Given the description of an element on the screen output the (x, y) to click on. 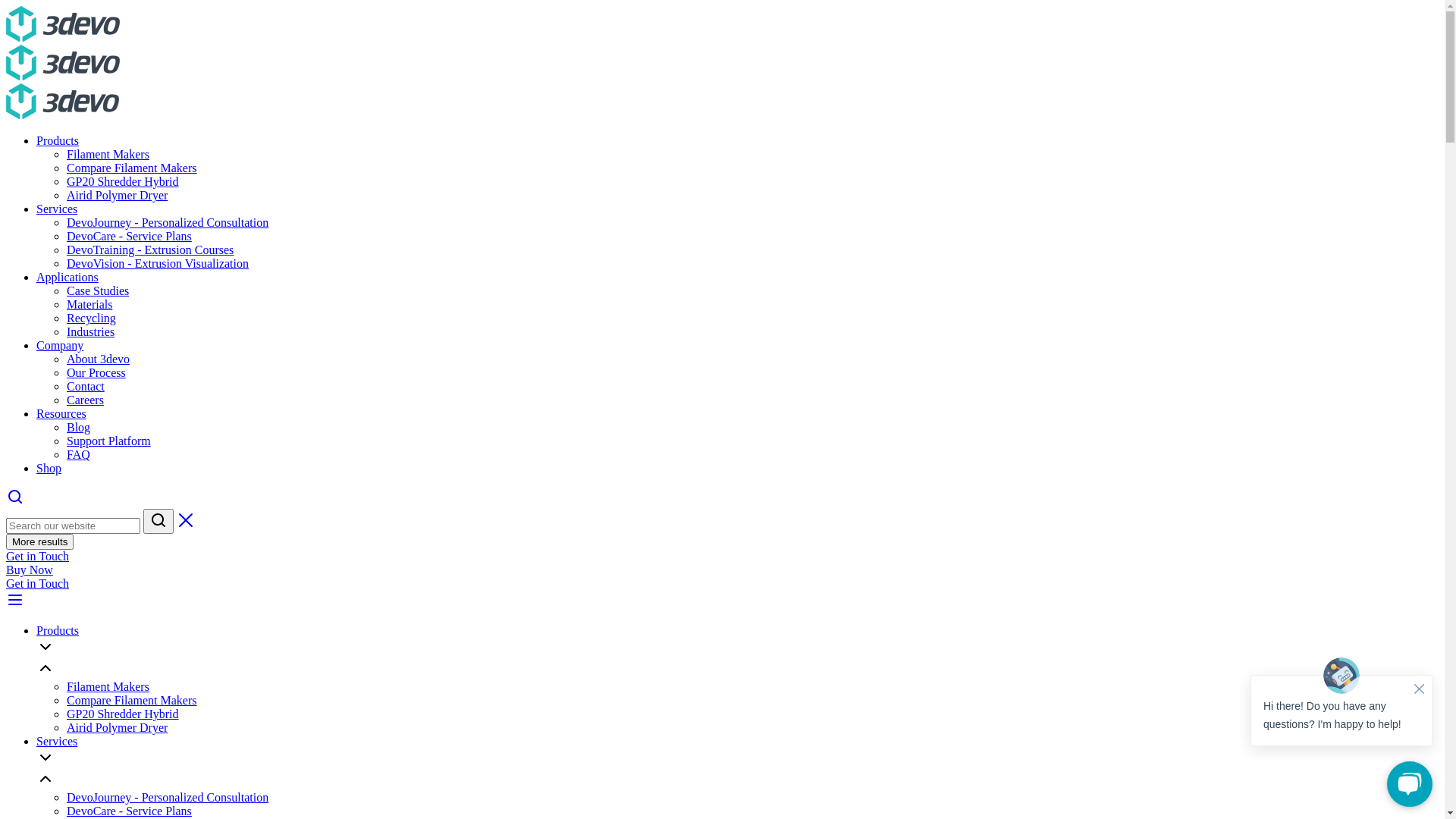
Materials Element type: text (89, 304)
Careers Element type: text (84, 399)
Contact Element type: text (85, 385)
3devo Logo Element type: hover (62, 23)
FAQ Element type: text (78, 454)
Our Process Element type: text (95, 372)
Airid Polymer Dryer Element type: text (116, 727)
GP20 Shredder Hybrid Element type: text (122, 713)
Recycling Element type: text (91, 317)
More results Element type: text (39, 541)
Buy Now Element type: text (29, 569)
Compare Filament Makers Element type: text (131, 699)
Get in Touch Element type: text (37, 583)
Case Studies Element type: text (97, 290)
DevoTraining - Extrusion Courses Element type: text (149, 249)
Resources Element type: text (61, 413)
DevoJourney - Personalized Consultation Element type: text (167, 222)
Support Platform Element type: text (108, 440)
Products Element type: text (57, 140)
DevoCare - Service Plans Element type: text (128, 235)
About 3devo Element type: text (97, 358)
Compare Filament Makers Element type: text (131, 167)
Services Element type: text (56, 208)
Shop Element type: text (48, 467)
Applications Element type: text (67, 276)
Services Element type: text (56, 740)
Filament Makers Element type: text (107, 686)
DevoVision - Extrusion Visualization Element type: text (157, 263)
Industries Element type: text (90, 331)
Search our website Element type: hover (73, 525)
DevoCare - Service Plans Element type: text (128, 810)
Blog Element type: text (78, 426)
Airid Polymer Dryer Element type: text (116, 194)
Products Element type: text (57, 630)
Filament Makers Element type: text (107, 153)
3devo - Blue and Dark logo-CROPPED-1 Element type: hover (62, 62)
Company Element type: text (59, 344)
DevoJourney - Personalized Consultation Element type: text (167, 796)
3devo logo Element type: hover (62, 101)
Get in Touch Element type: text (37, 555)
GP20 Shredder Hybrid Element type: text (122, 181)
